Given the description of an element on the screen output the (x, y) to click on. 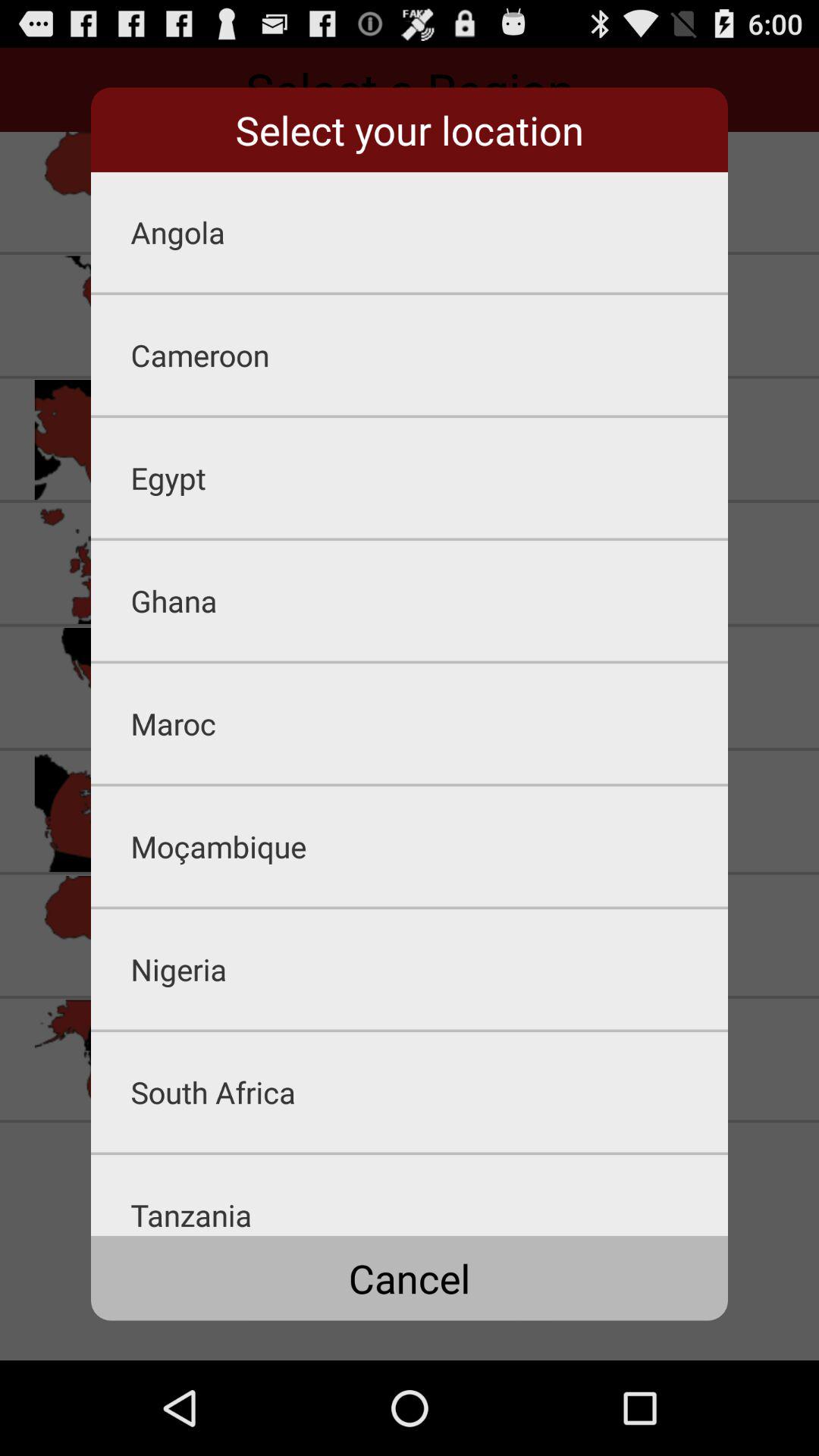
press cameroon item (429, 355)
